Given the description of an element on the screen output the (x, y) to click on. 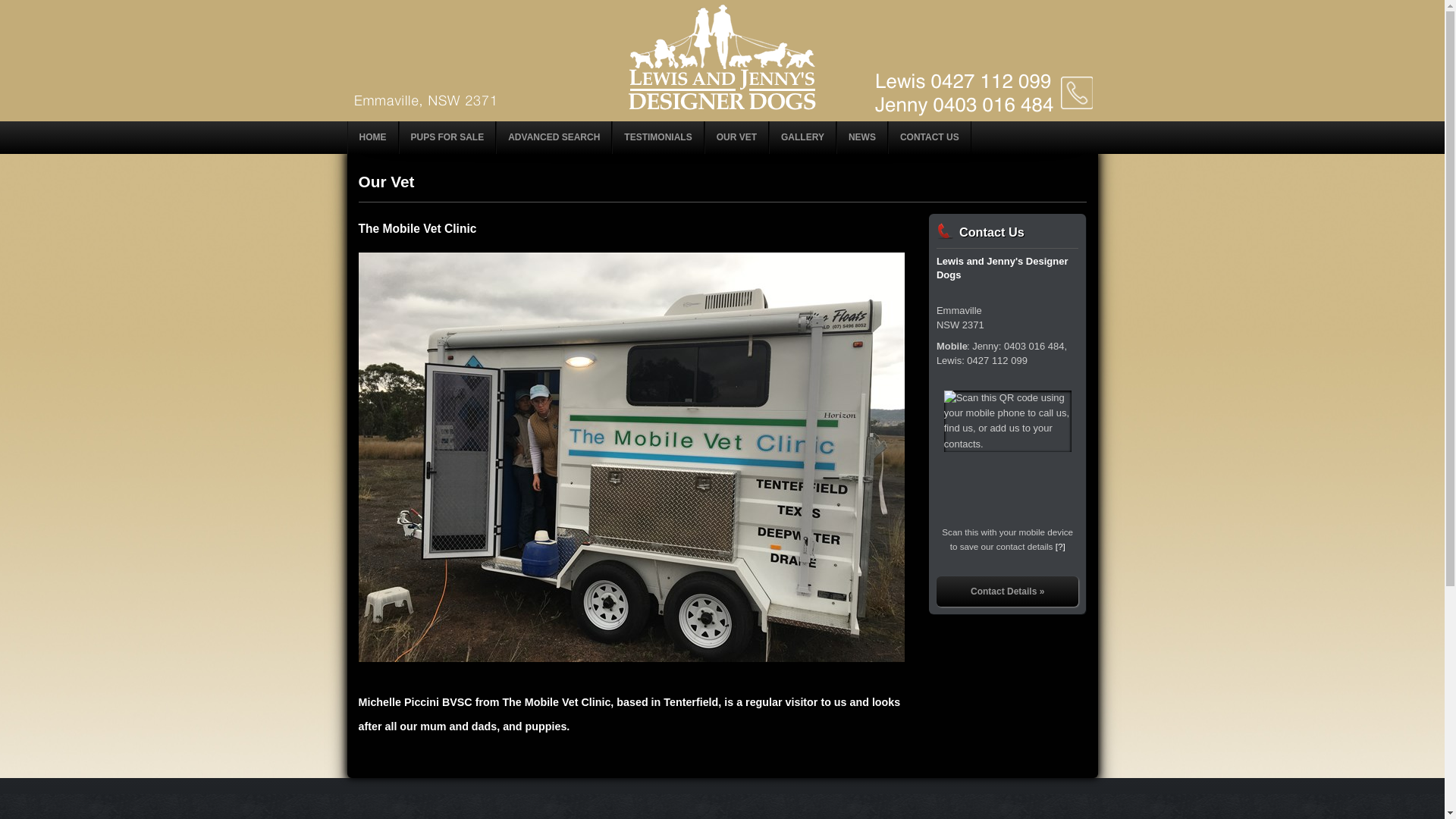
GALLERY Element type: text (802, 137)
CONTACT US Element type: text (929, 137)
ADVANCED SEARCH Element type: text (553, 137)
PUPS FOR SALE Element type: text (447, 137)
[?] Element type: text (1060, 546)
TESTIMONIALS Element type: text (657, 137)
OUR VET Element type: text (736, 137)
NEWS Element type: text (862, 137)
HOME Element type: text (372, 137)
